Given the description of an element on the screen output the (x, y) to click on. 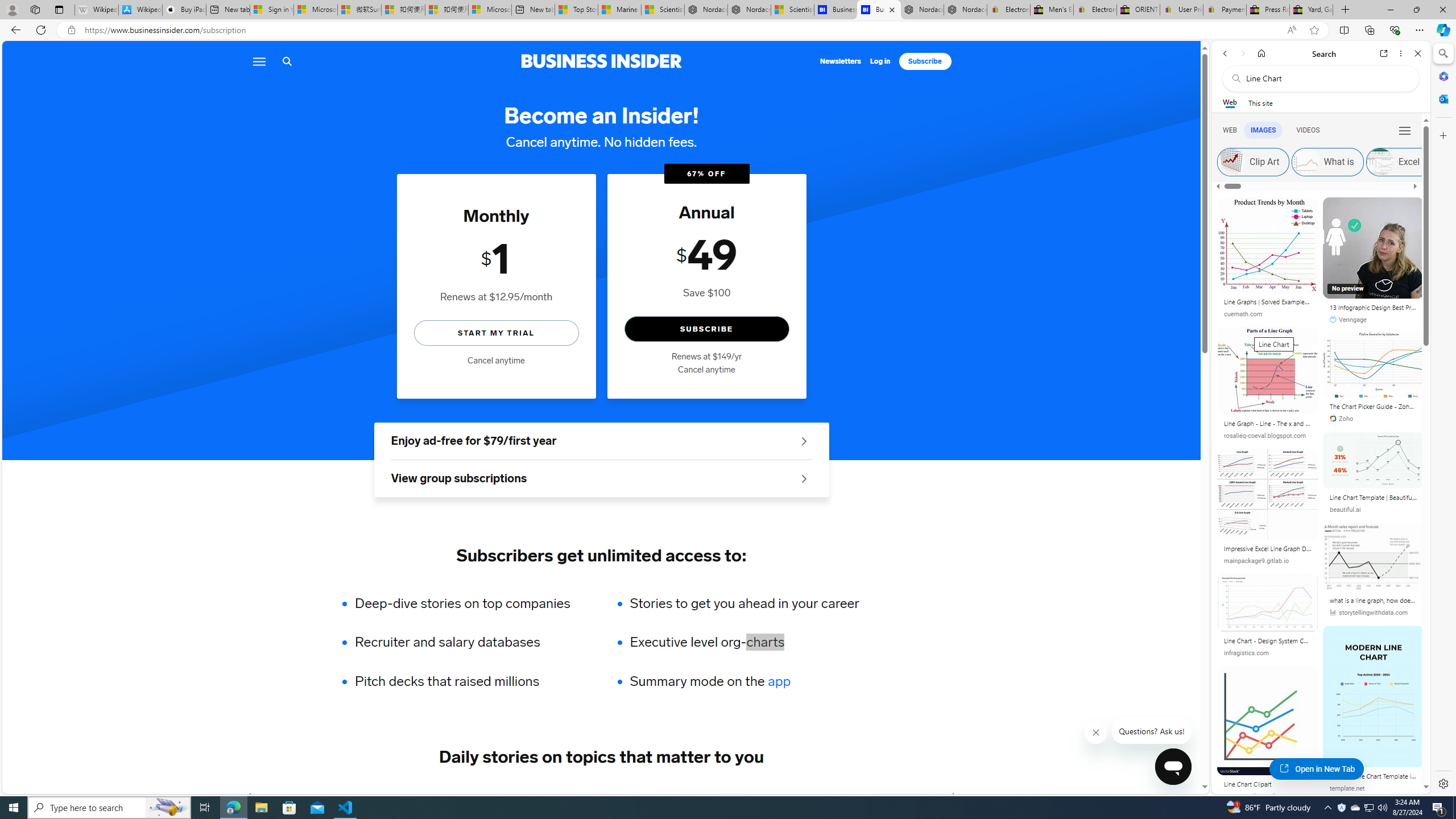
Line Graph - Line - The x and y axis are used to. (1267, 423)
Wikipedia - Sleeping (96, 9)
Excel Simple (1379, 162)
Clip Art (1230, 162)
The Chart Picker Guide - Zoho Blog (1372, 408)
RETAIL (422, 796)
rosalieq-coeval.blogspot.com (1265, 435)
Line Chart Template | Beautiful.ai (1372, 499)
Pitch decks that raised millions (470, 681)
13 Infographic Design Best Practices - Venngage (1372, 309)
app (778, 681)
What is (1327, 162)
proper-cooking.info (1267, 796)
